Given the description of an element on the screen output the (x, y) to click on. 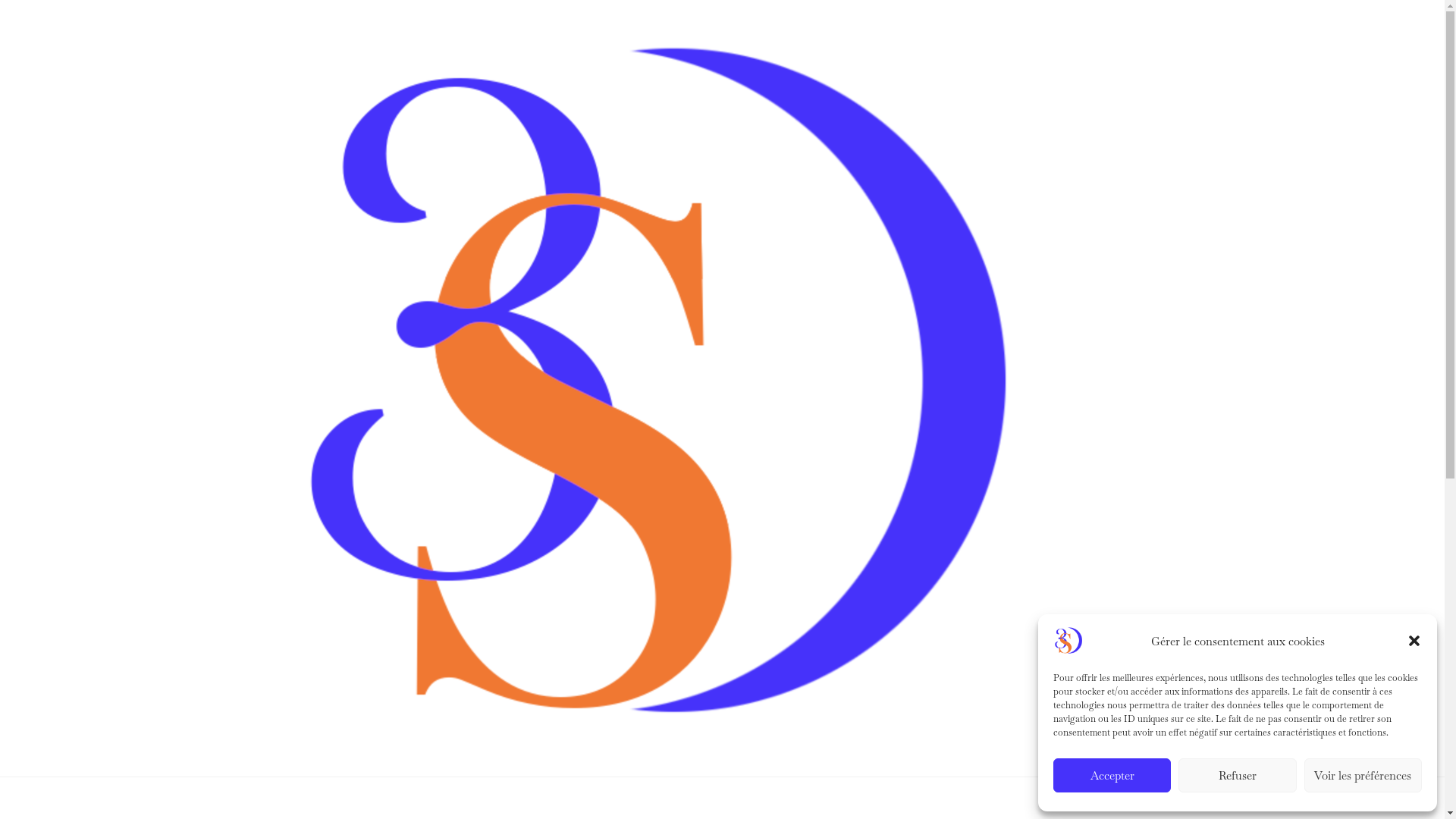
Refuser Element type: text (1236, 775)
Accepter Element type: text (1111, 775)
